Given the description of an element on the screen output the (x, y) to click on. 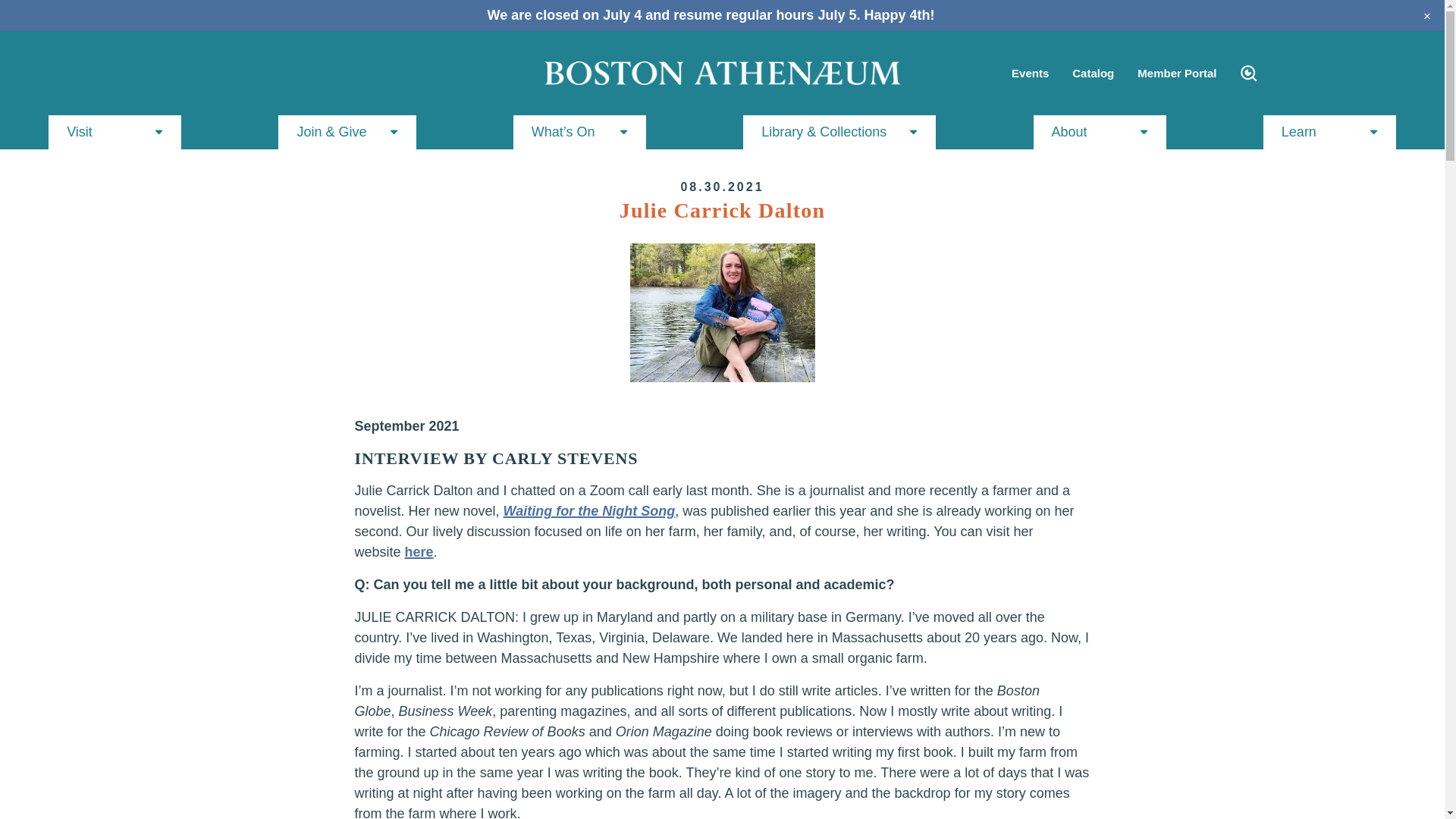
Member Portal (1176, 72)
Catalog (1092, 72)
Search (1248, 73)
Events (1029, 72)
